Given the description of an element on the screen output the (x, y) to click on. 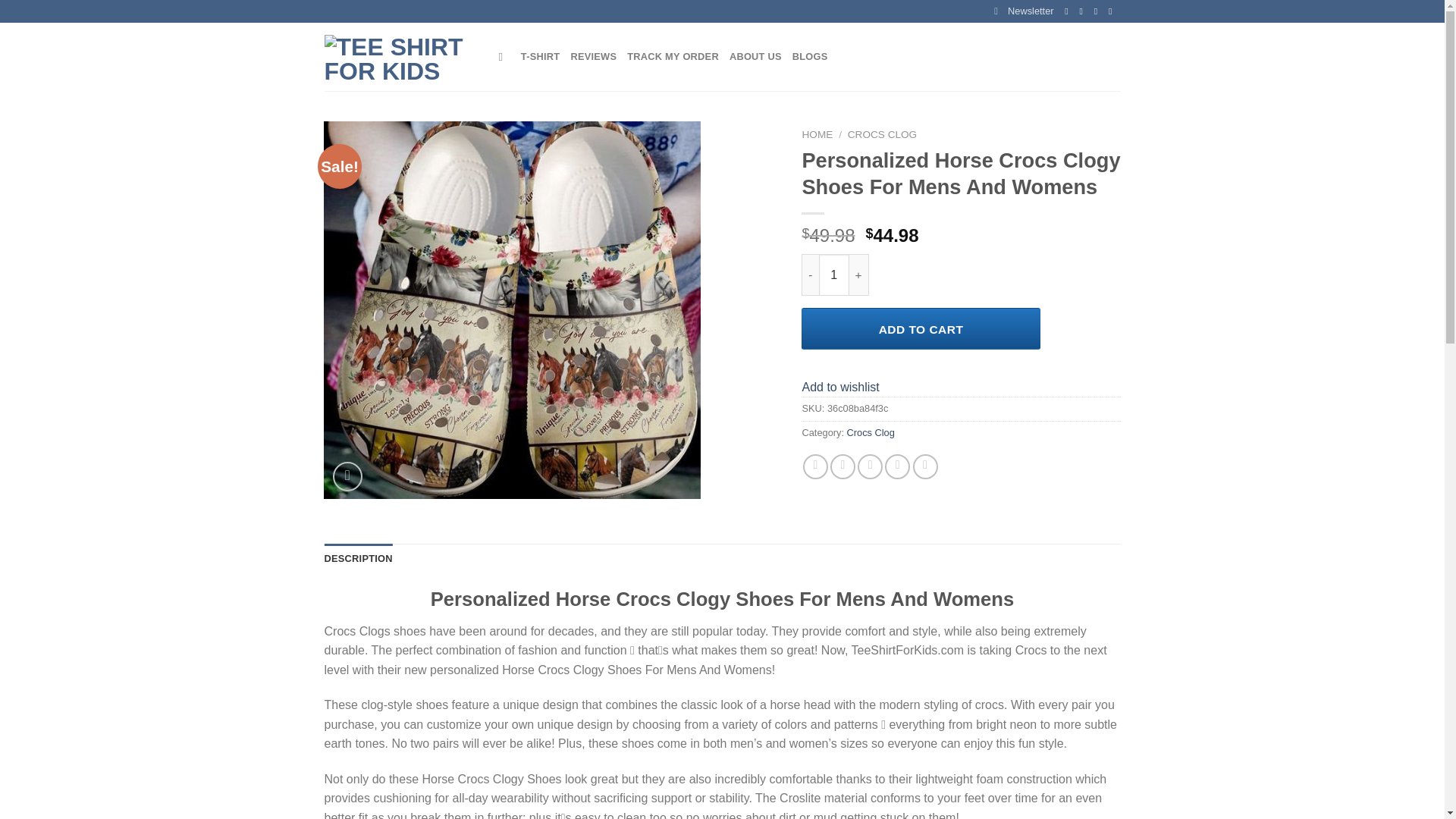
Share on Facebook (815, 466)
Sign up for Newsletter (1023, 11)
DESCRIPTION (358, 558)
Zoom (347, 476)
Share on Twitter (842, 466)
ABOUT US (755, 56)
TRACK MY ORDER (673, 56)
Crocs Clog (871, 432)
BLOGS (810, 56)
T-SHIRT (540, 56)
Tee Shirt For Kids (400, 57)
Newsletter (1023, 11)
HOME (817, 134)
REVIEWS (592, 56)
ADD TO CART (920, 328)
